Given the description of an element on the screen output the (x, y) to click on. 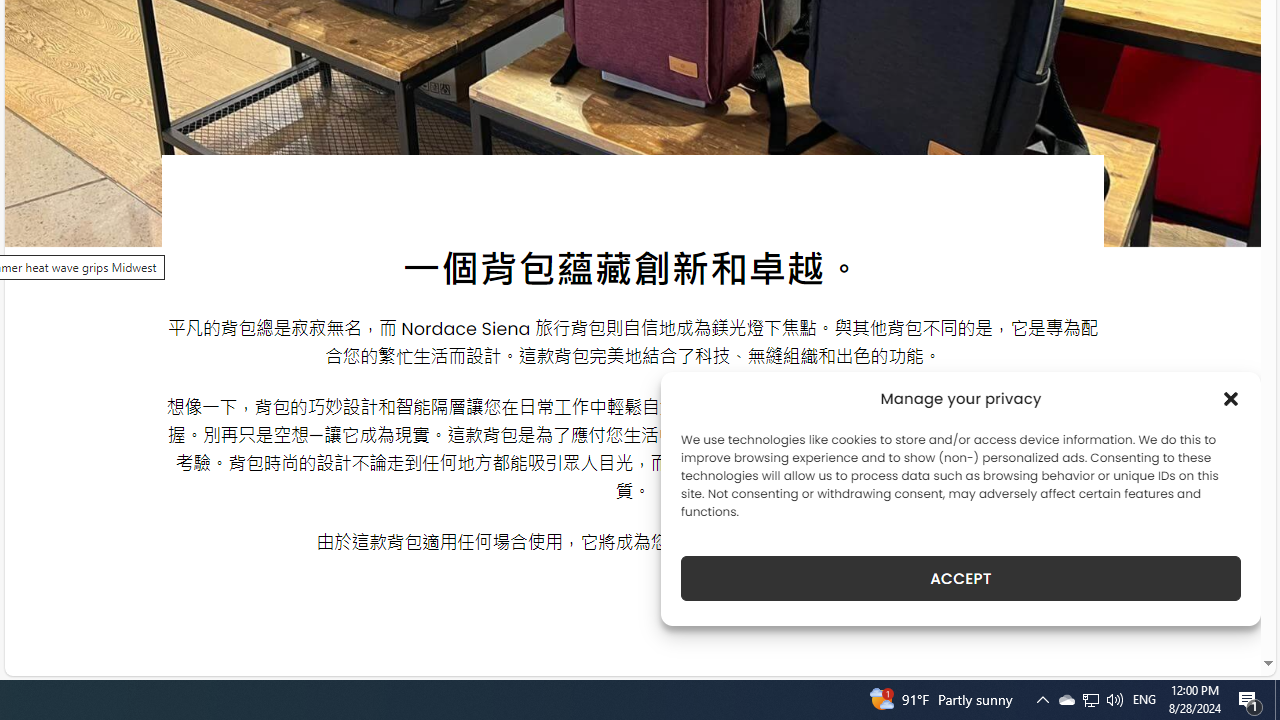
Class: cmplz-close (1231, 398)
ACCEPT (960, 578)
